Given the description of an element on the screen output the (x, y) to click on. 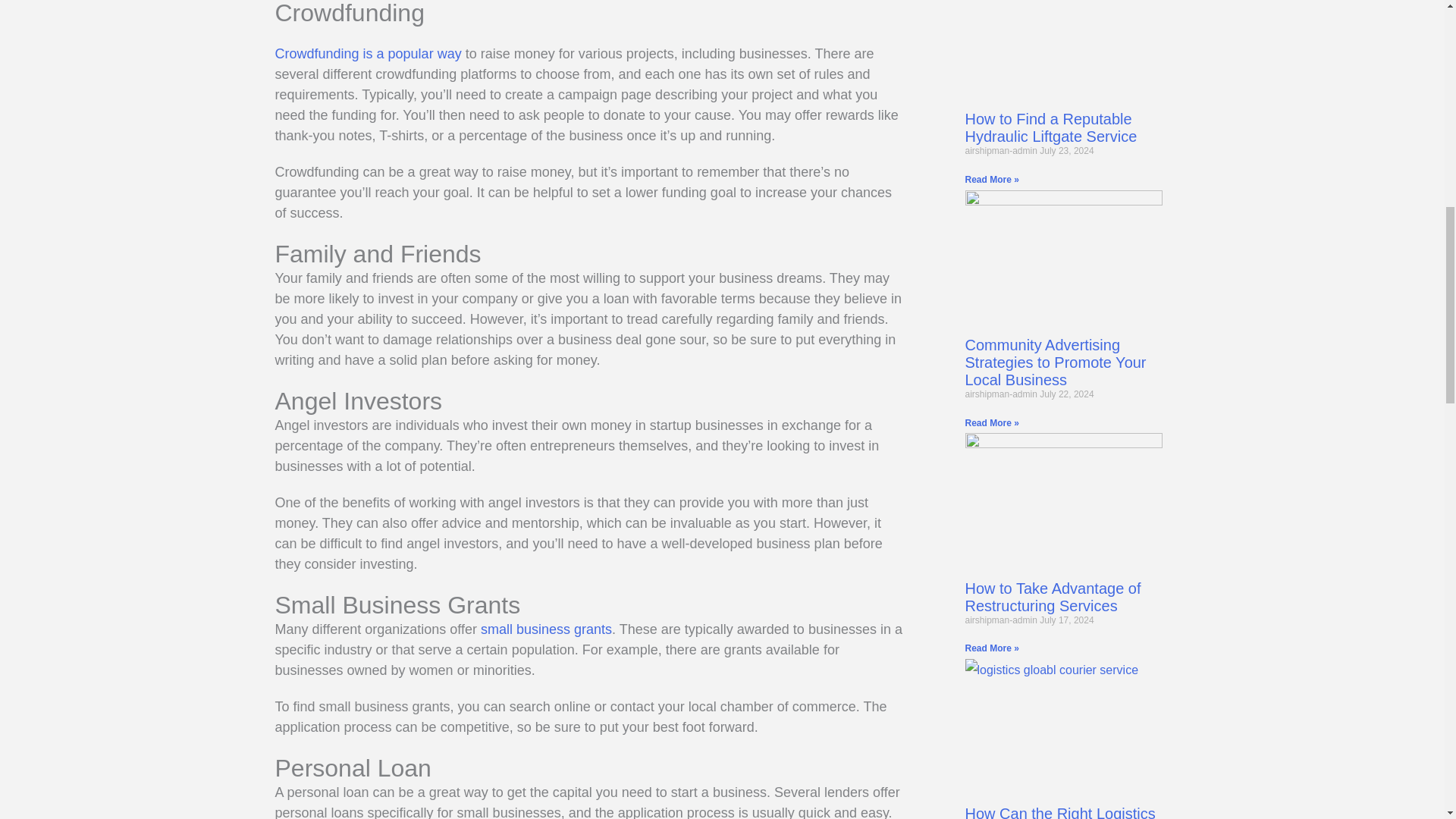
How to Find a Reputable Hydraulic Liftgate Service (1050, 127)
small business grants (545, 629)
How to Take Advantage of Restructuring Services (1051, 596)
Crowdfunding is a popular way (368, 53)
